Given the description of an element on the screen output the (x, y) to click on. 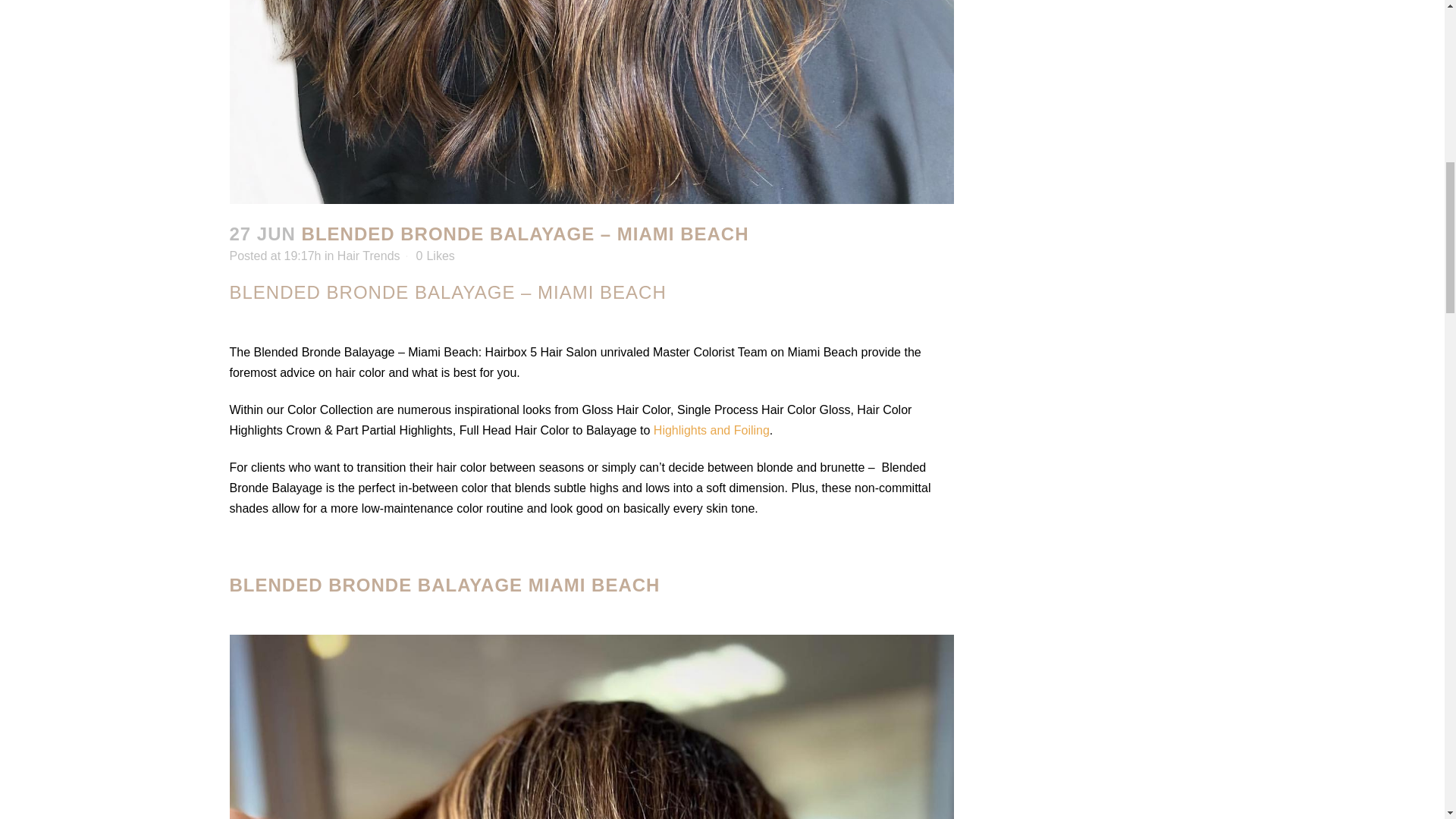
Hair Trends (368, 255)
Like this (435, 255)
Highlights and Foiling (711, 430)
0 Likes (435, 255)
